Given the description of an element on the screen output the (x, y) to click on. 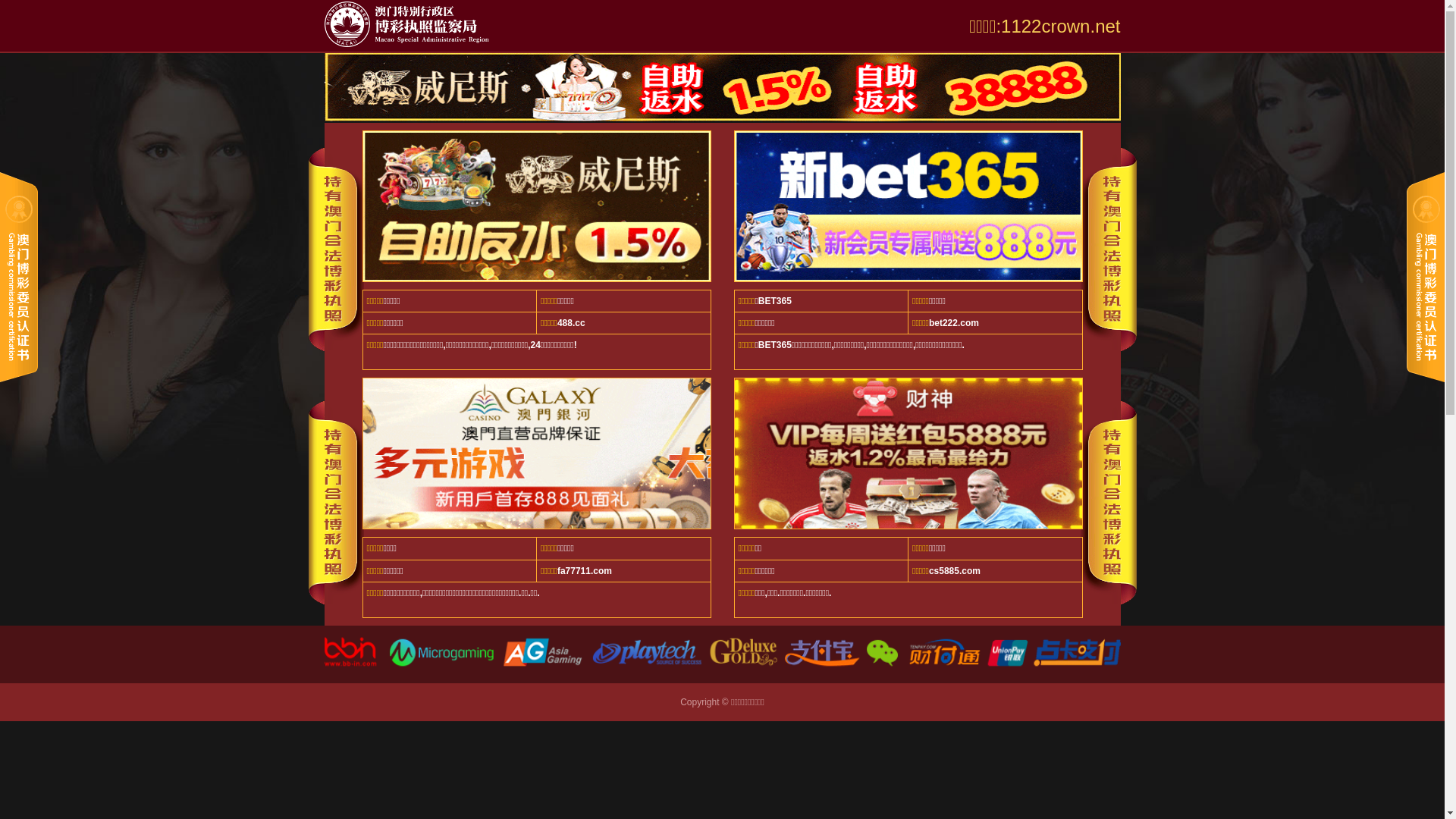
  Element type: text (1183, 99)
